Given the description of an element on the screen output the (x, y) to click on. 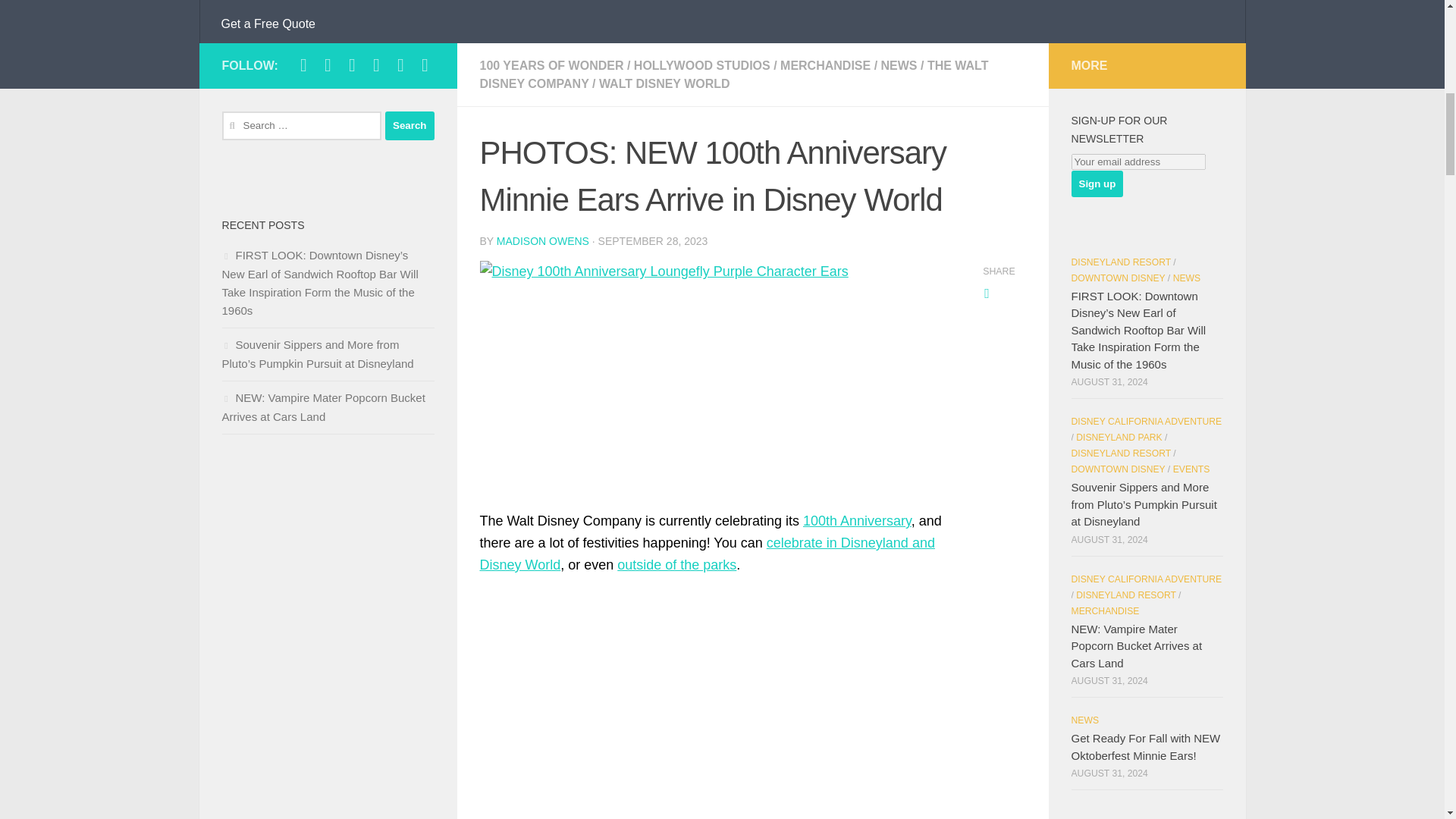
Walt Disney World (328, 2)
Follow us on Facebook (303, 65)
Sign up (1096, 183)
Follow us on Instagram (327, 65)
Search (409, 125)
Home (237, 2)
Follow us on Tiktok (375, 65)
Follow us on Twitter (351, 65)
Search (409, 125)
